Given the description of an element on the screen output the (x, y) to click on. 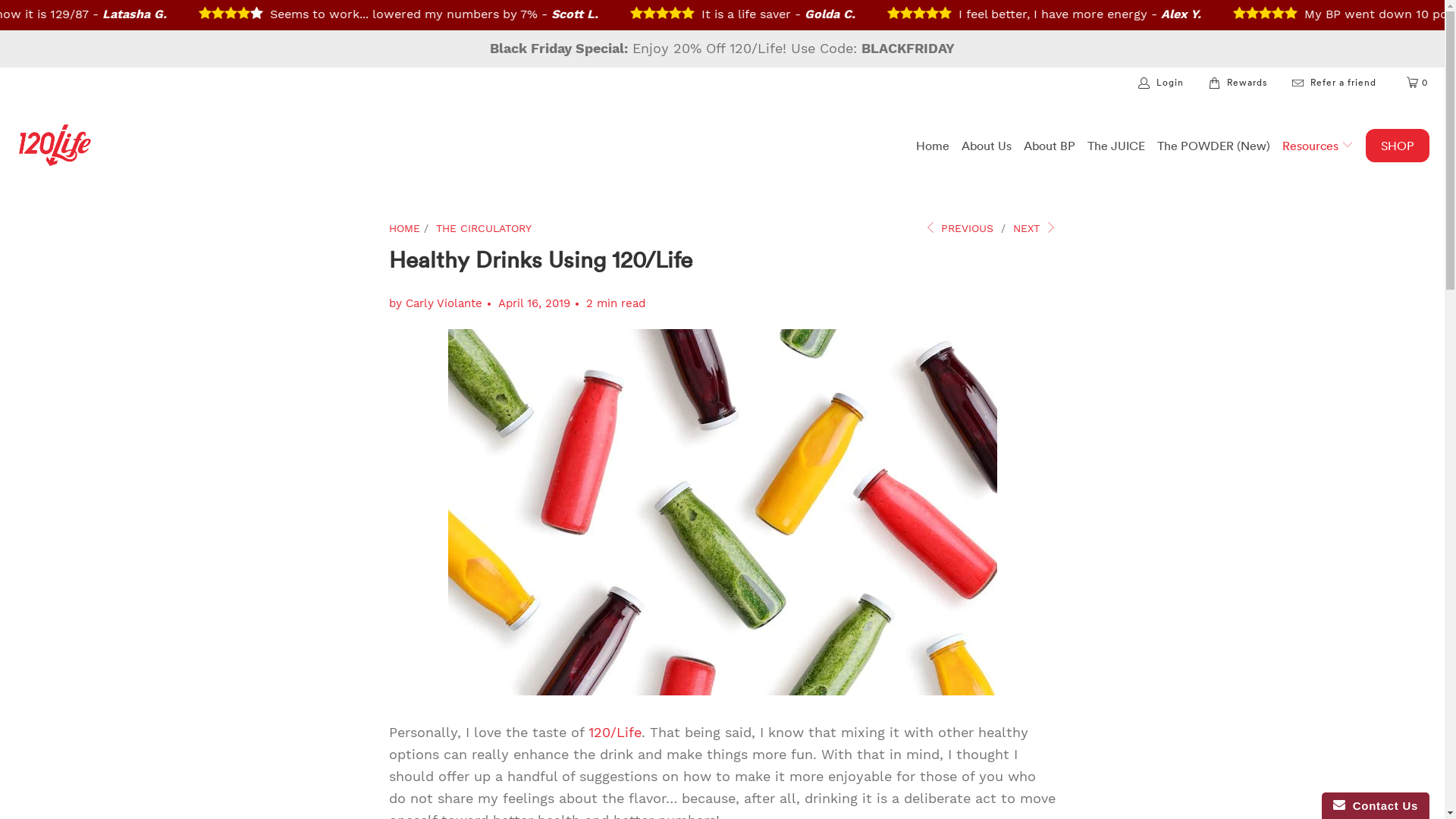
About BP Element type: text (1049, 145)
by Carly Violante Element type: text (434, 303)
Refer a friend Element type: text (1335, 82)
Rewards Element type: text (1238, 82)
Login Element type: text (1160, 82)
0 Element type: text (1417, 82)
120/Life Element type: text (614, 732)
The POWDER (New) Element type: text (1213, 145)
NEXT Element type: text (1034, 228)
About Us Element type: text (986, 145)
Home Element type: text (932, 145)
PREVIOUS Element type: text (958, 228)
THE CIRCULATORY Element type: text (482, 228)
120/Life Element type: hover (54, 146)
HOME Element type: text (403, 228)
Resources Element type: text (1317, 145)
The JUICE Element type: text (1116, 145)
SHOP Element type: text (1397, 145)
